Given the description of an element on the screen output the (x, y) to click on. 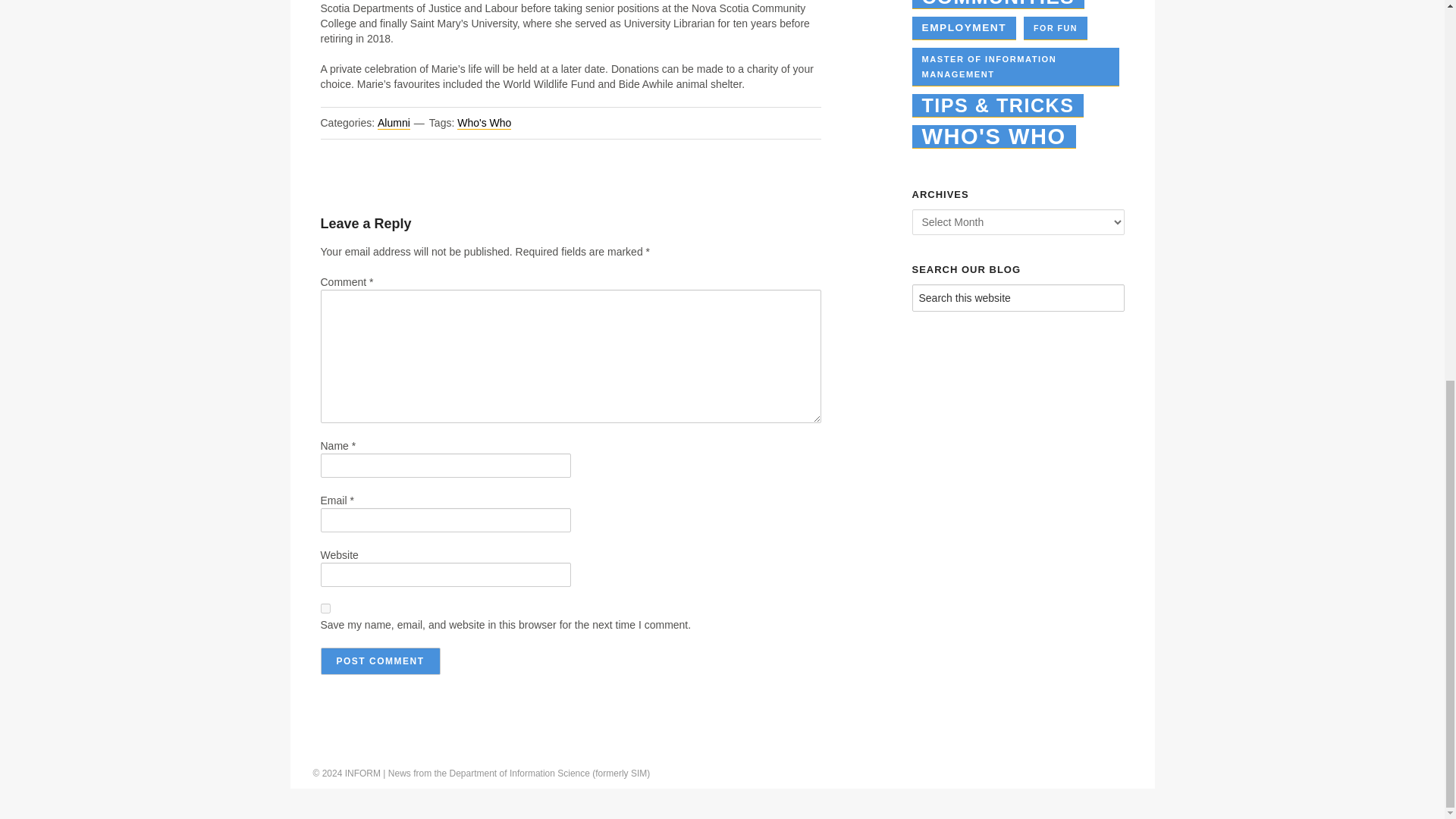
yes (325, 608)
Post Comment (379, 660)
FOR FUN (1055, 28)
WHO'S WHO (993, 136)
Post Comment (379, 660)
Alumni (393, 123)
COMMUNITIES (997, 4)
MASTER OF INFORMATION MANAGEMENT (1014, 66)
Who's Who (484, 123)
EMPLOYMENT (963, 28)
